Given the description of an element on the screen output the (x, y) to click on. 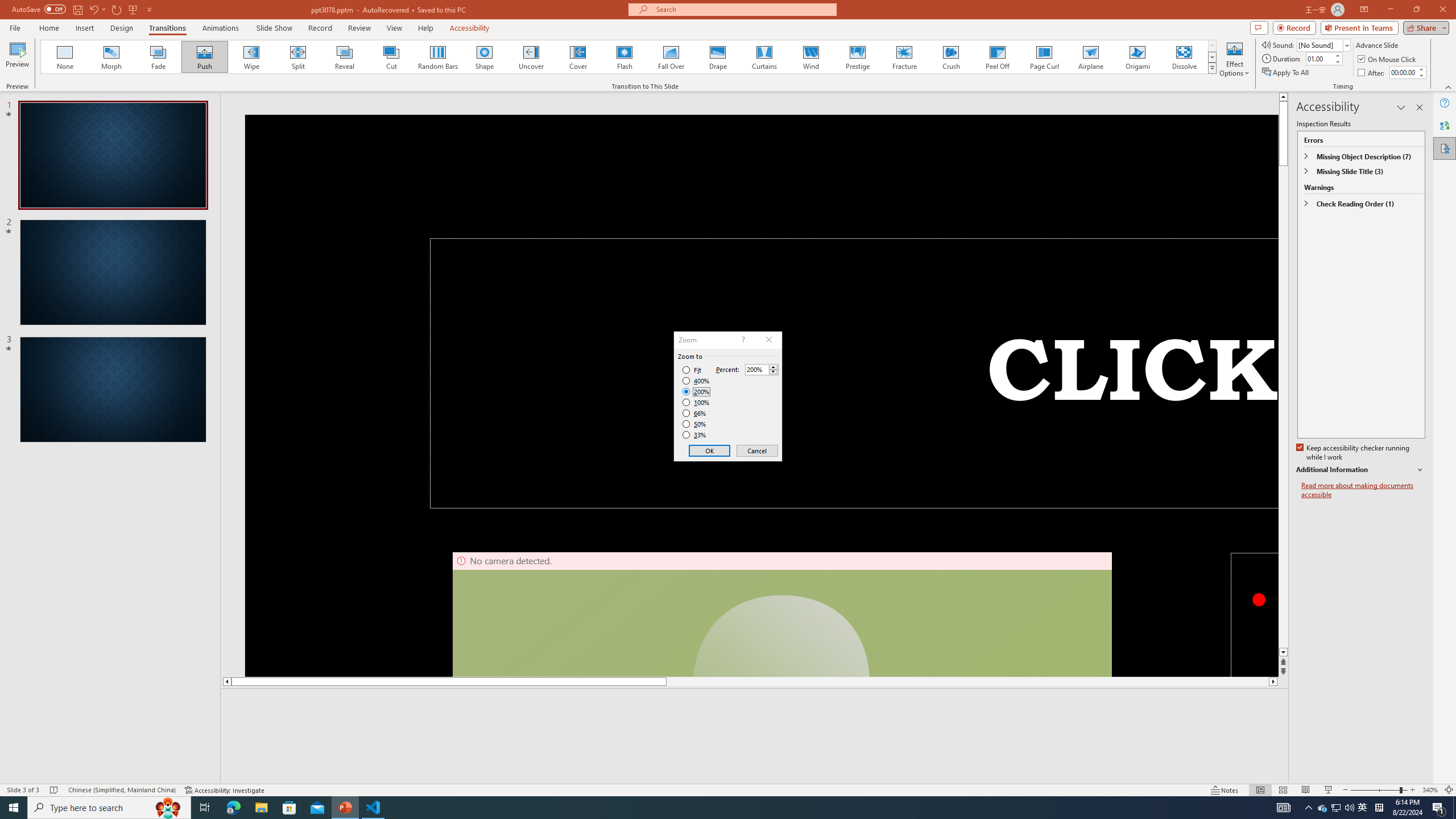
Origami (1136, 56)
200% (696, 391)
Reveal (344, 56)
Split (298, 56)
Fit (691, 370)
66% (694, 412)
